Given the description of an element on the screen output the (x, y) to click on. 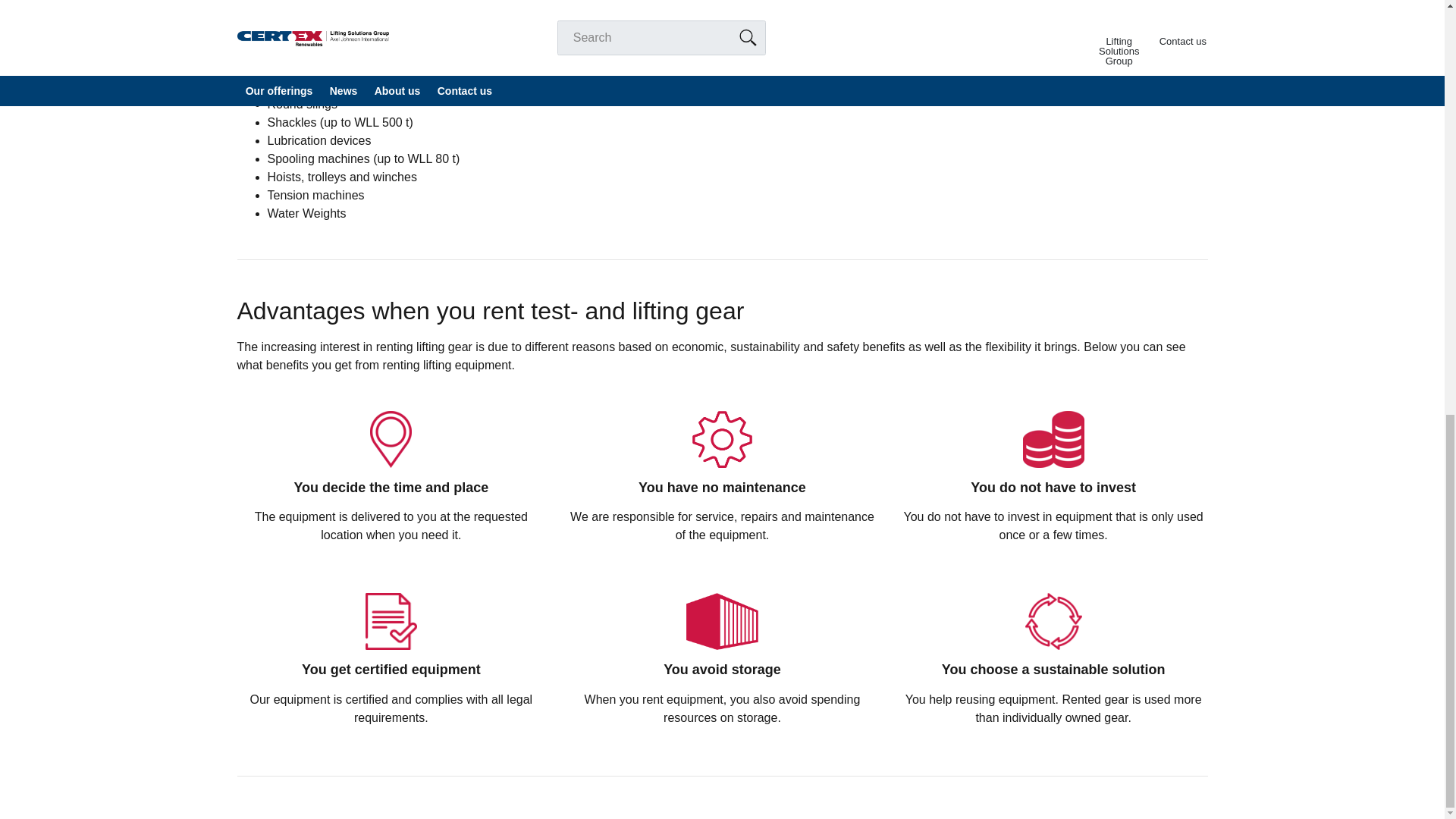
You get certified equipment (390, 621)
You choose a sustainable solution (1053, 621)
You avoid storage (721, 621)
You do not have to invest (1053, 439)
You have no maintenance (722, 439)
